Given the description of an element on the screen output the (x, y) to click on. 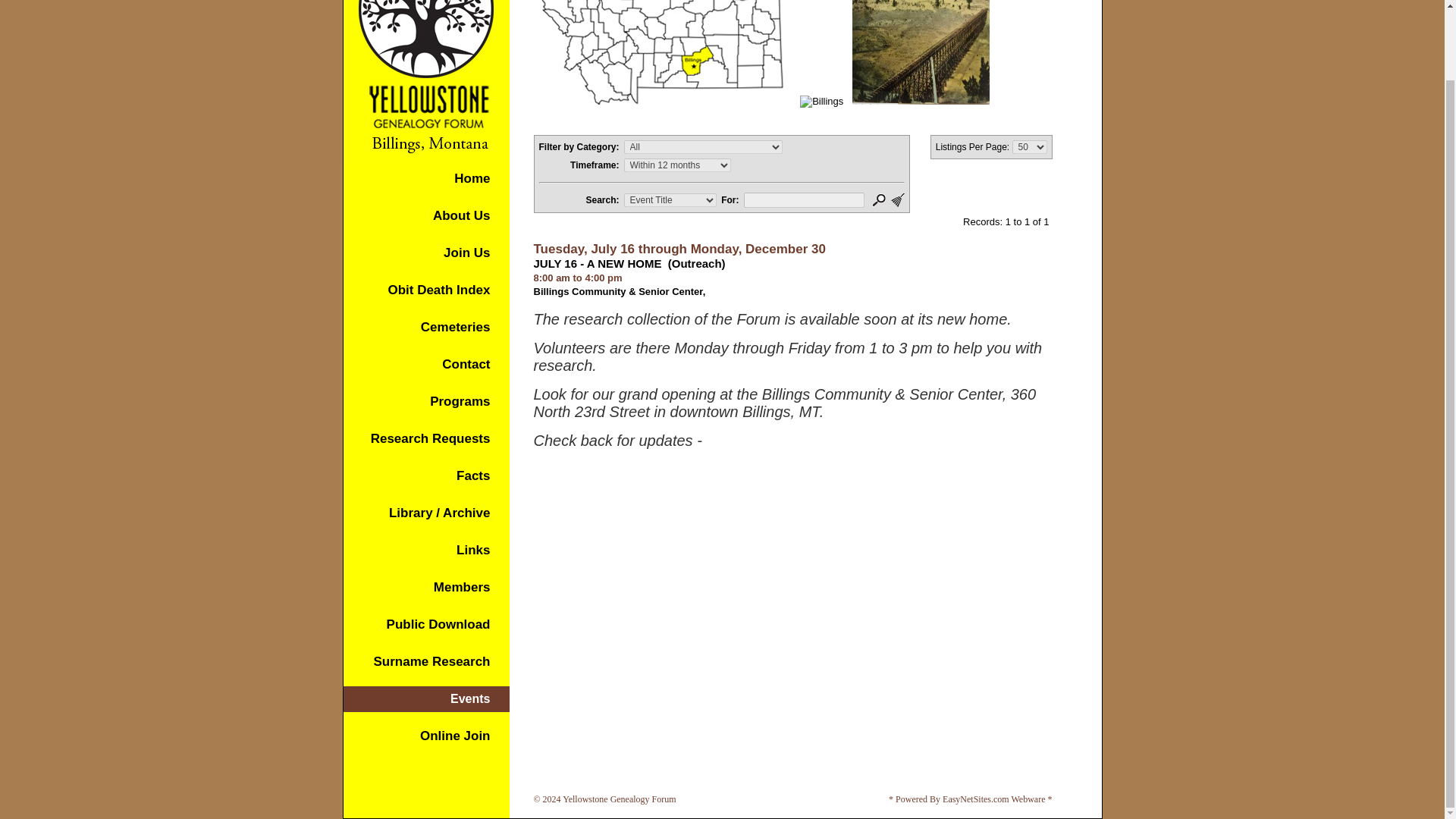
Facts (473, 475)
Online Join (455, 735)
Obit Death Index (438, 289)
Members (461, 586)
Clear Search (897, 200)
Alkali Creek (920, 52)
Billings, Montana (653, 52)
Surname Research (430, 661)
About Us (461, 215)
Contact (465, 364)
